Given the description of an element on the screen output the (x, y) to click on. 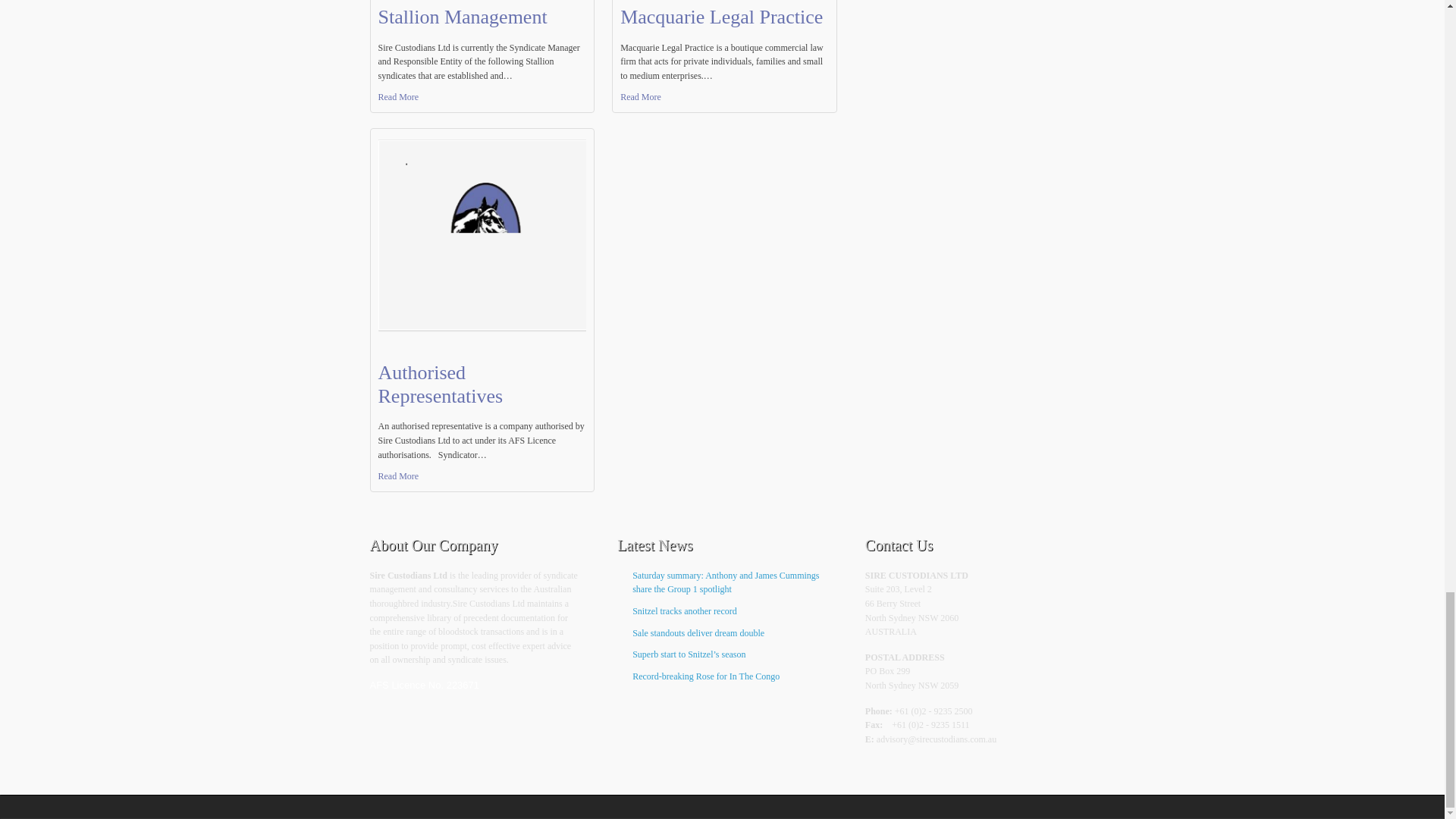
Read More (724, 97)
Read More (481, 97)
Stallion Management (462, 16)
Authorised Representatives (439, 384)
Macquarie Legal Practice (721, 16)
